Given the description of an element on the screen output the (x, y) to click on. 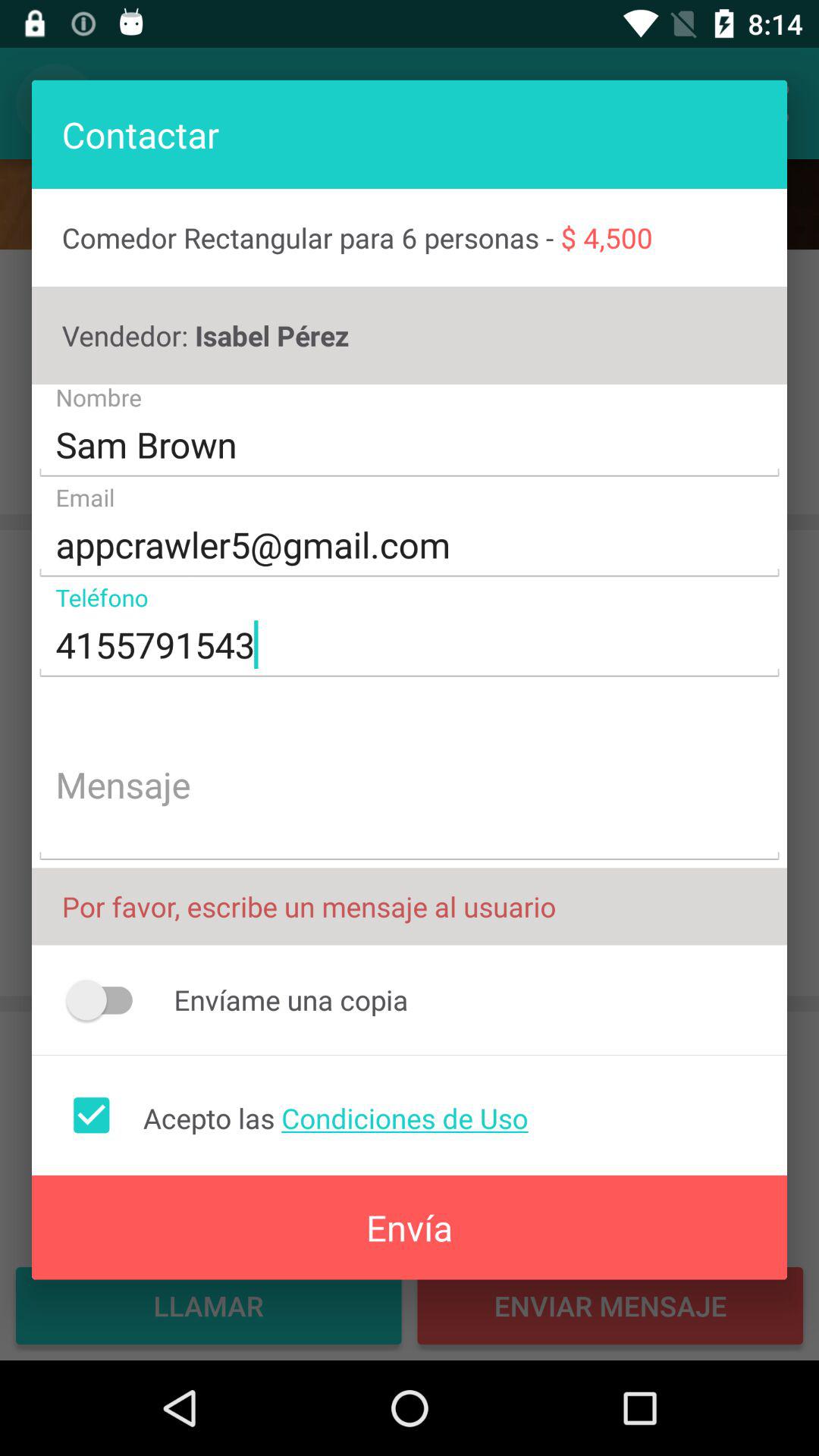
jump until por favor escribe item (409, 906)
